Given the description of an element on the screen output the (x, y) to click on. 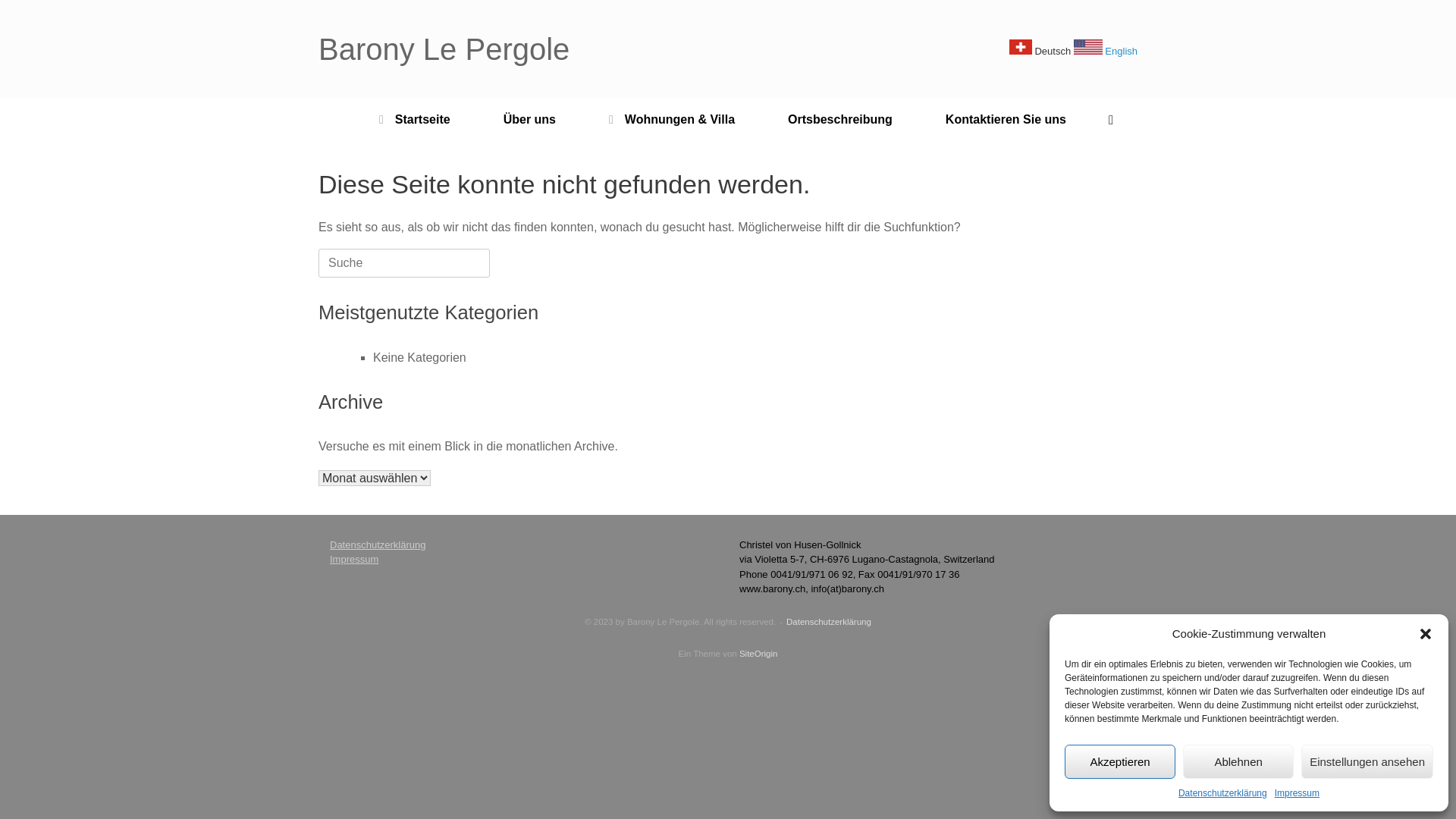
Impressum Element type: text (353, 558)
Akzeptieren Element type: text (1119, 761)
Wohnungen & Villa Element type: text (671, 119)
 English Element type: text (1105, 50)
Kontaktieren Sie uns Element type: text (1005, 119)
Impressum Element type: text (1296, 793)
Barony Le Pergole Element type: text (443, 49)
Ablehnen Element type: text (1238, 761)
Einstellungen ansehen Element type: text (1367, 761)
SiteOrigin Element type: text (758, 653)
Startseite Element type: text (414, 119)
Ortsbeschreibung Element type: text (840, 119)
